Given the description of an element on the screen output the (x, y) to click on. 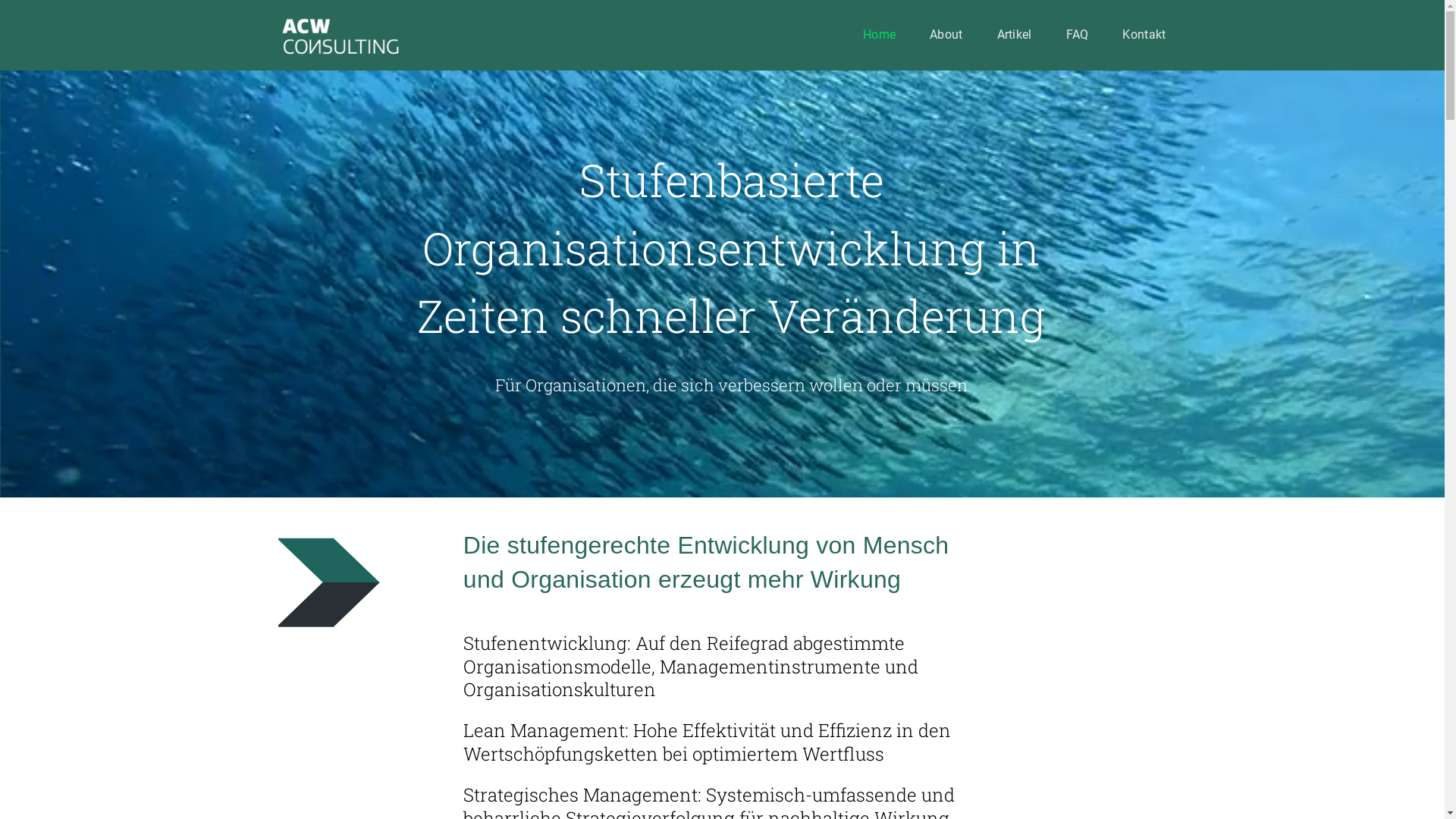
Pfeil Element type: hover (333, 582)
Kontakt Element type: text (1143, 35)
FAQ Element type: text (1077, 35)
Home Element type: text (878, 35)
Artikel Element type: text (1014, 35)
About Element type: text (945, 35)
